Given the description of an element on the screen output the (x, y) to click on. 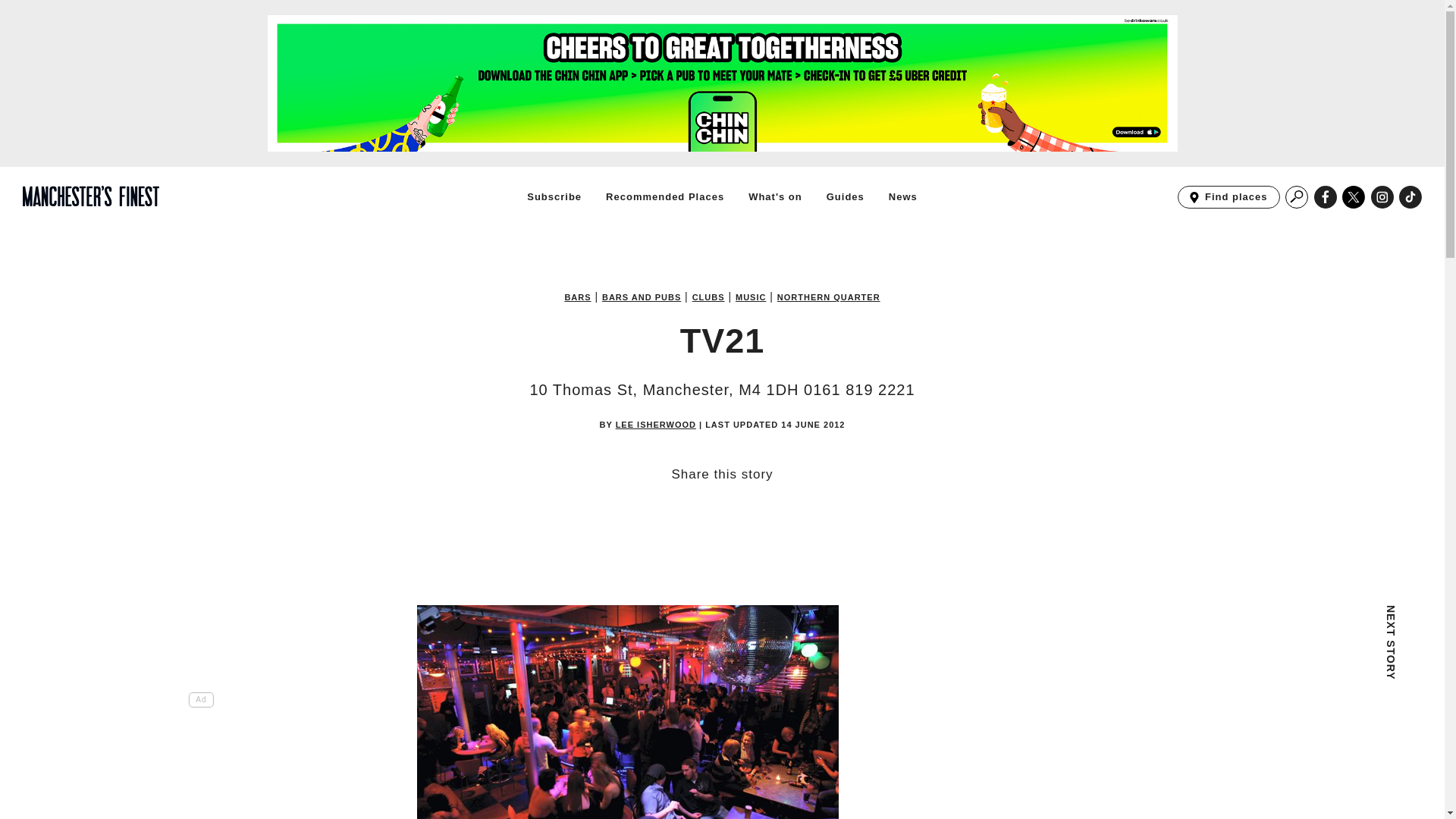
Go to Manchester's Finest Facebook page (1325, 196)
Go to Manchester's Finest X profile (1353, 196)
LEE ISHERWOOD (655, 423)
BARS (577, 297)
BARS AND PUBS (1228, 196)
News (641, 297)
NORTHERN QUARTER (902, 196)
Subscribe (828, 297)
Recommended Places (553, 196)
Go to Manchester's Finest TikTok profile (664, 196)
Guides (1410, 196)
Search Manchester's Finest (845, 196)
What's on (1296, 196)
Go to Manchester's Finest Instagram profile (775, 196)
